Given the description of an element on the screen output the (x, y) to click on. 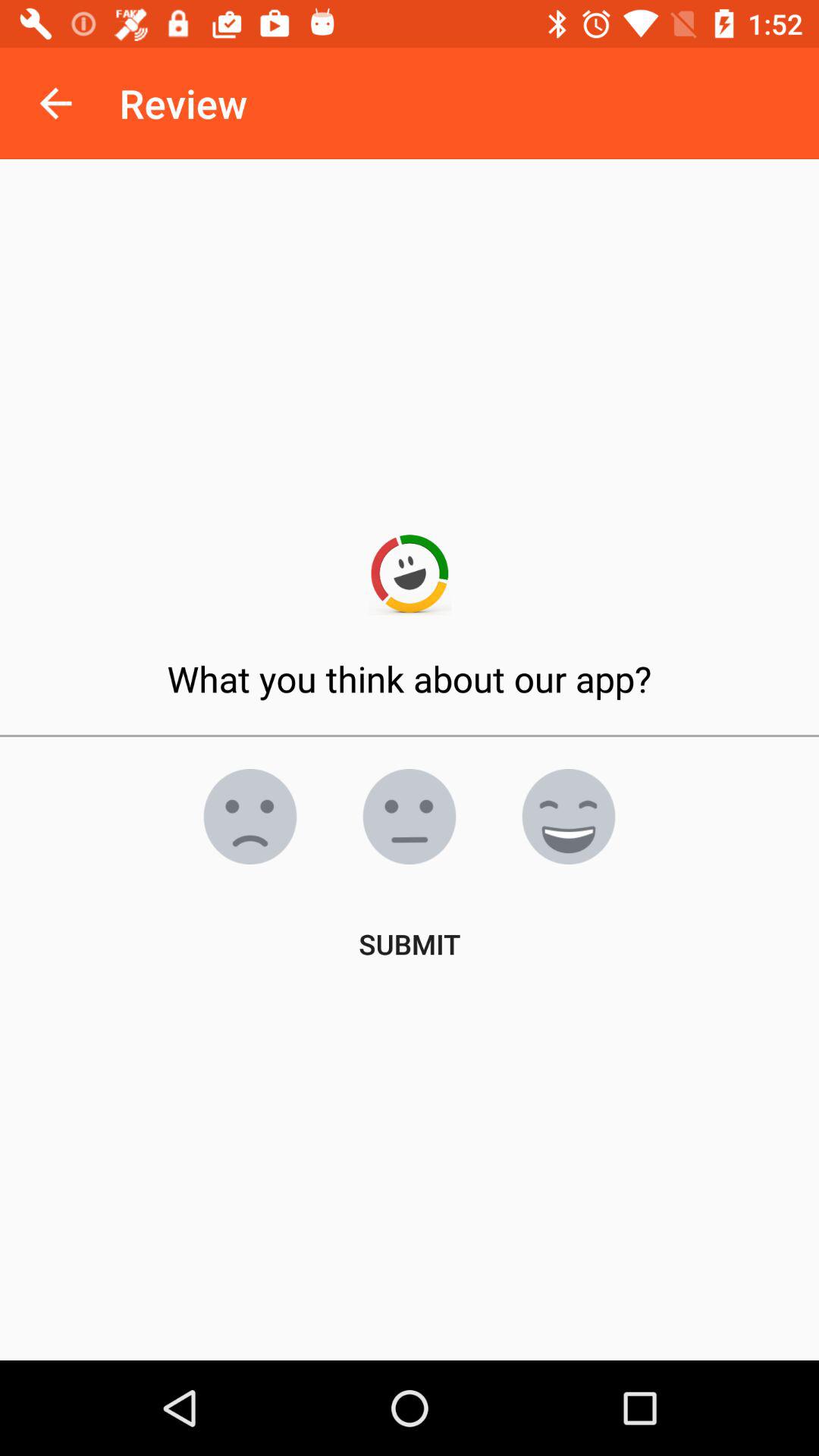
happy button (568, 816)
